Given the description of an element on the screen output the (x, y) to click on. 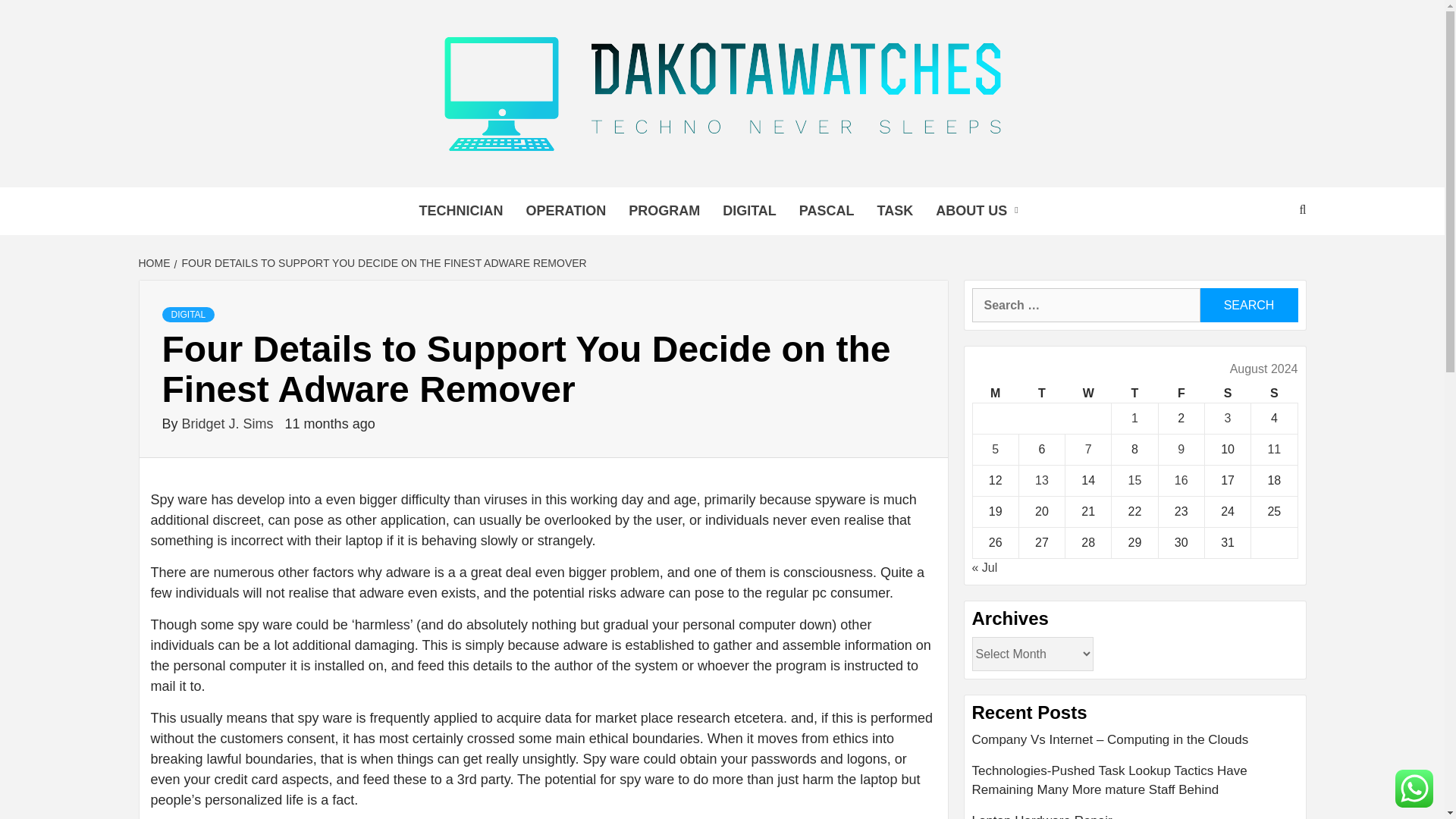
ABOUT US (980, 211)
Friday (1180, 393)
PROGRAM (664, 211)
11 (1273, 449)
15 (1134, 480)
PASCAL (826, 211)
Monday (994, 393)
TECHNICIAN (460, 211)
Search (1248, 305)
Bridget J. Sims (230, 423)
